Given the description of an element on the screen output the (x, y) to click on. 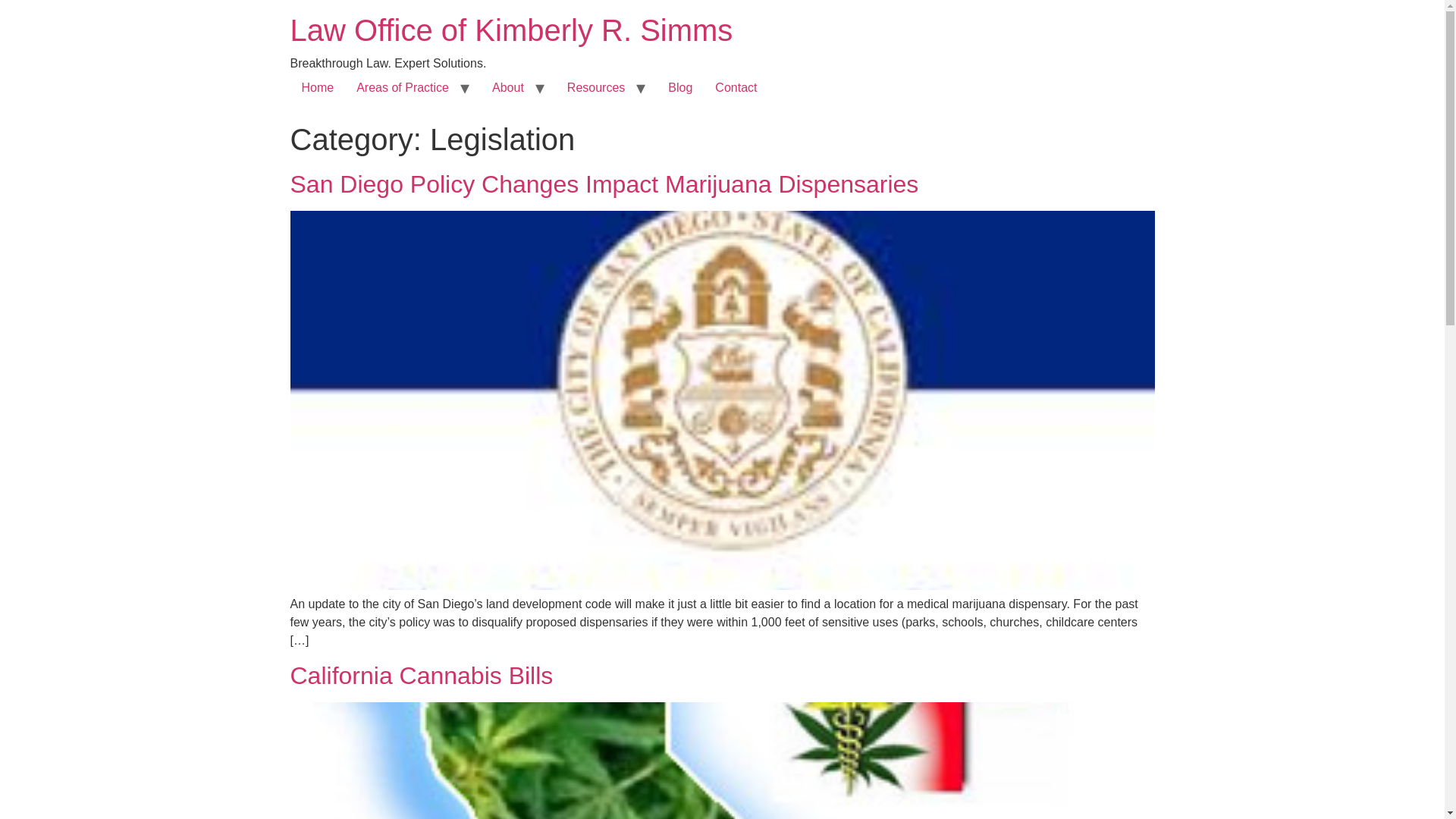
Contact (735, 87)
Home (510, 29)
Blog (679, 87)
Home (317, 87)
Law Office of Kimberly R. Simms (510, 29)
Areas of Practice (402, 87)
San Diego Policy Changes Impact Marijuana Dispensaries (603, 184)
About (507, 87)
Resources (596, 87)
